Given the description of an element on the screen output the (x, y) to click on. 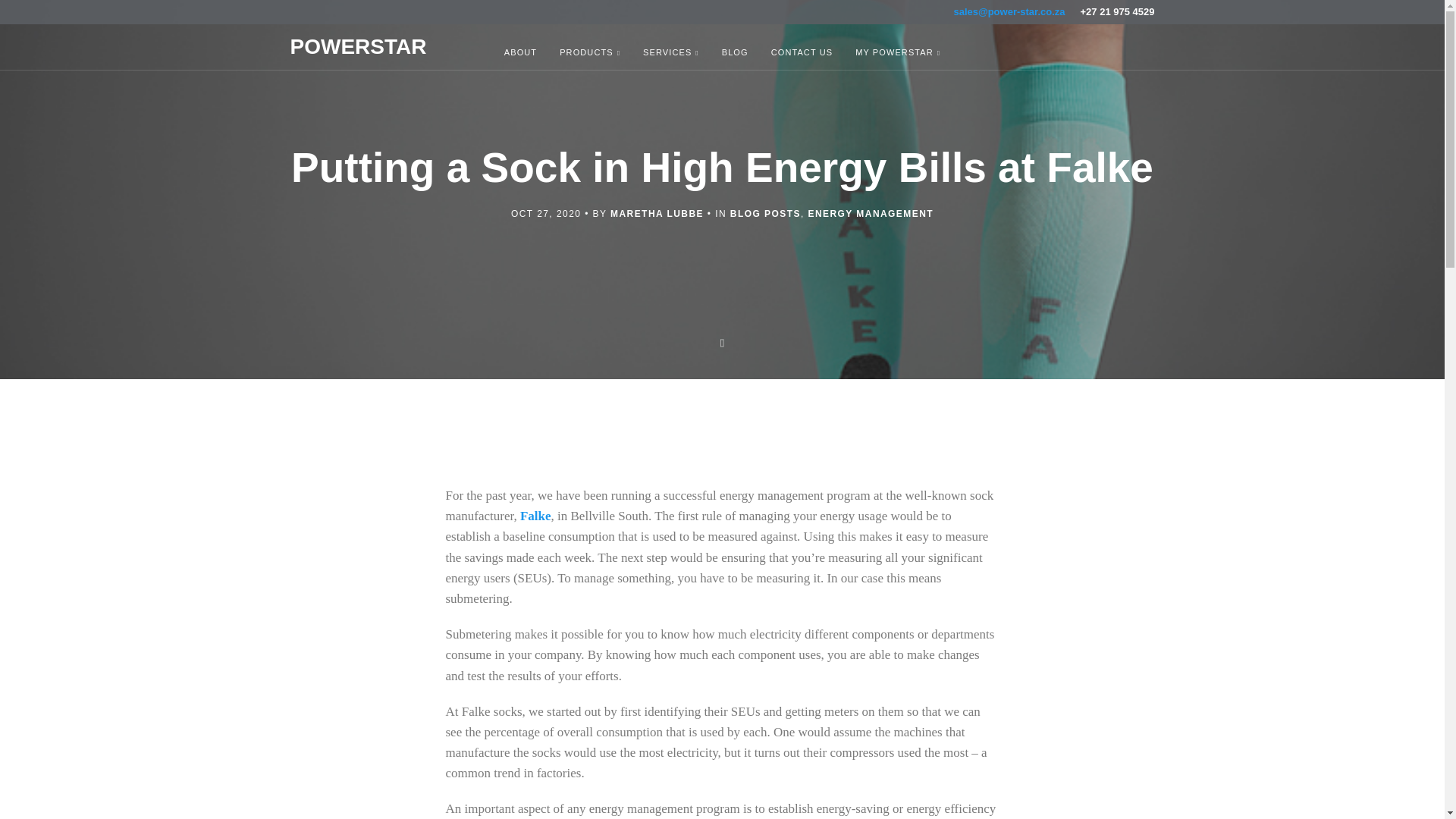
POWERSTAR (357, 49)
BLOG (735, 52)
CONTACT US (802, 52)
SERVICES (670, 52)
PRODUCTS (589, 52)
Posts by Maretha Lubbe (656, 213)
ABOUT (520, 52)
